Given the description of an element on the screen output the (x, y) to click on. 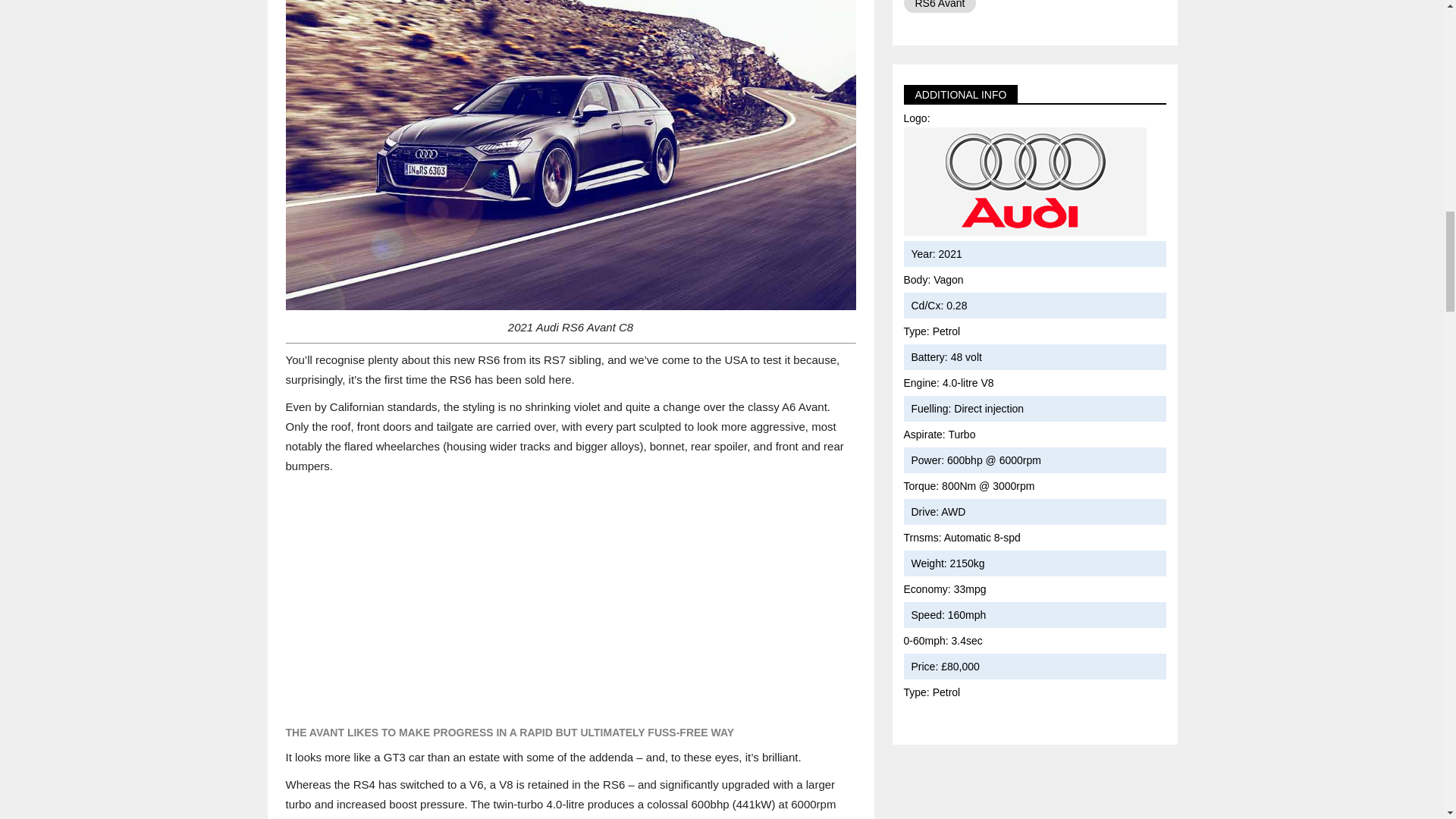
3rd party ad content (569, 597)
